Given the description of an element on the screen output the (x, y) to click on. 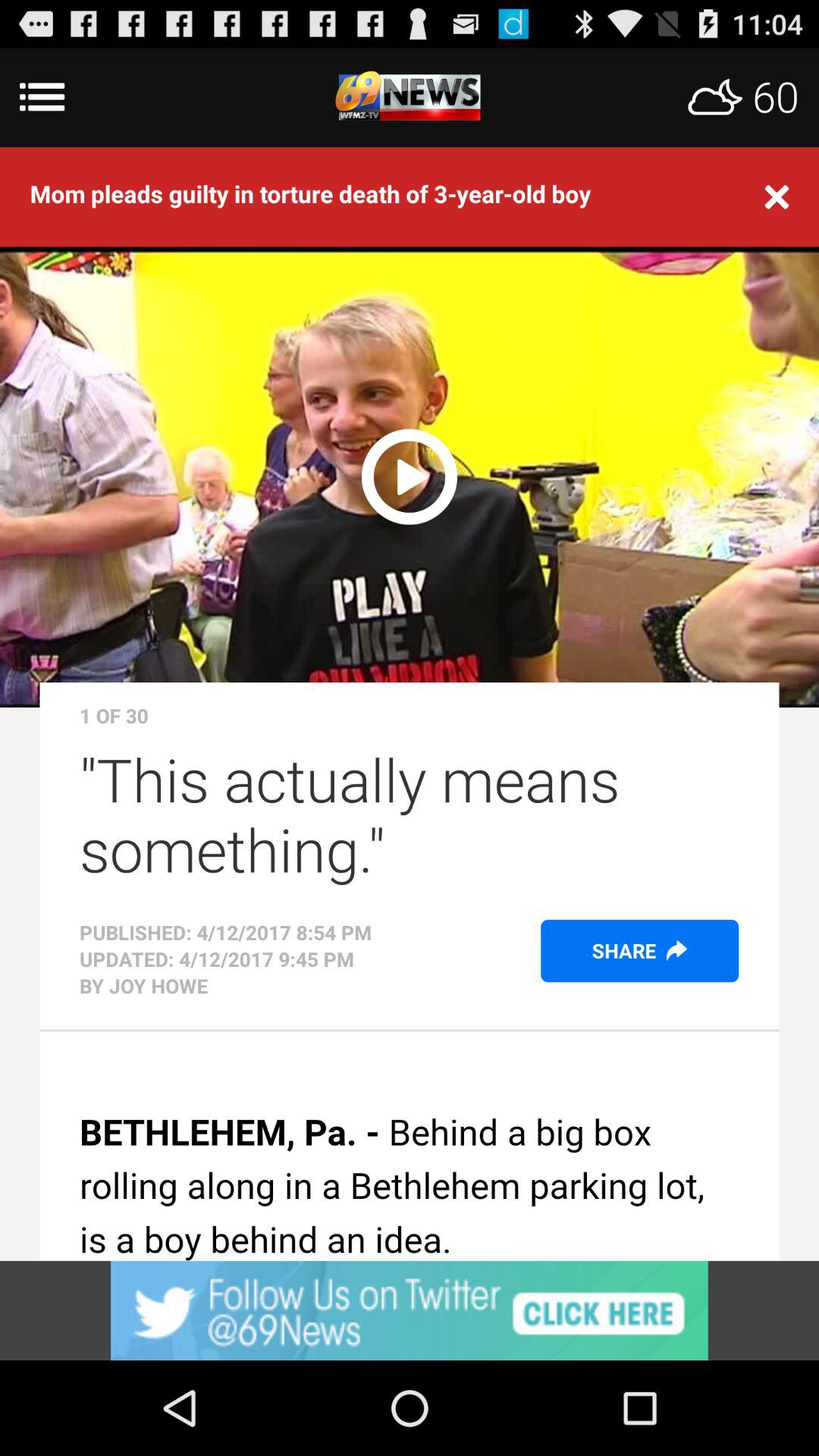
follow 69news on twitter (409, 1310)
